Given the description of an element on the screen output the (x, y) to click on. 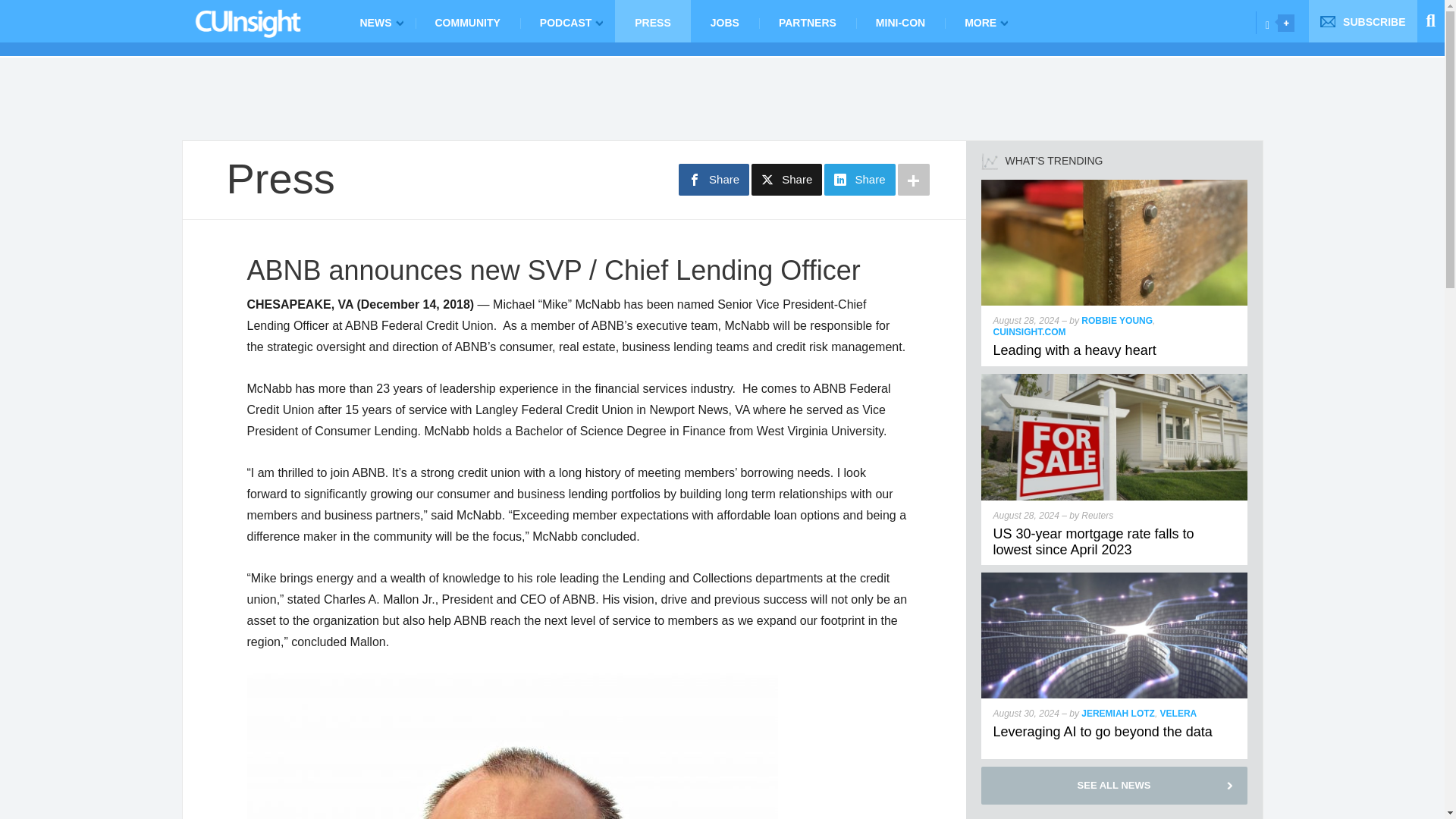
Opener (1286, 22)
Leading with a heavy heart (1114, 185)
MORE (982, 21)
MINI-CON (900, 21)
PRESS (652, 21)
SUBSCRIBE (1362, 21)
PODCAST (566, 21)
Share (786, 179)
COMMUNITY (466, 21)
PARTNERS (807, 21)
